Given the description of an element on the screen output the (x, y) to click on. 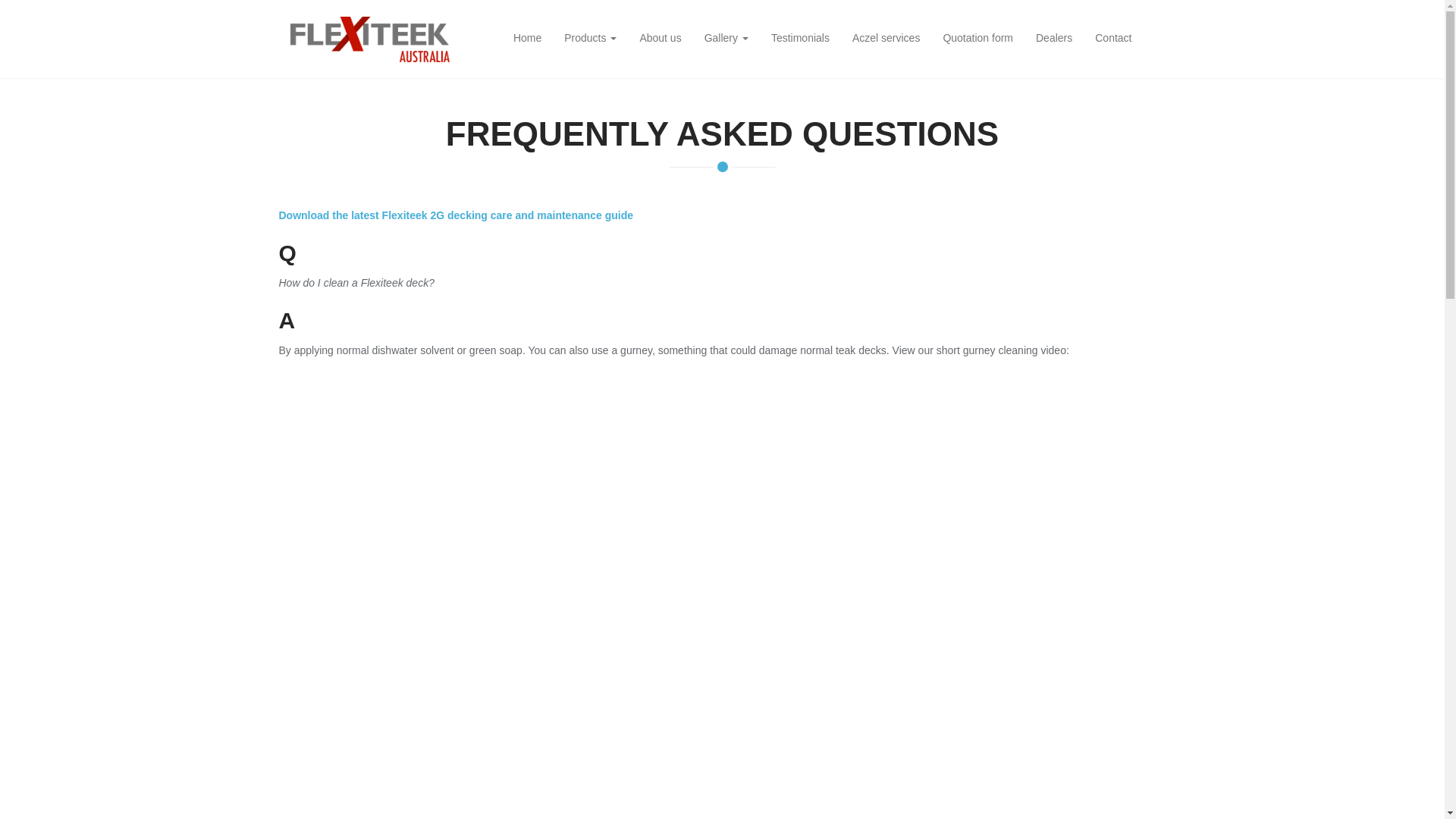
Testimonials Element type: text (799, 37)
Contact Element type: text (1112, 37)
Products Element type: text (589, 37)
Aczel services Element type: text (885, 37)
Home Element type: text (527, 37)
Dealers Element type: text (1053, 37)
Gallery Element type: text (726, 37)
Quotation form Element type: text (977, 37)
About us Element type: text (659, 37)
